Given the description of an element on the screen output the (x, y) to click on. 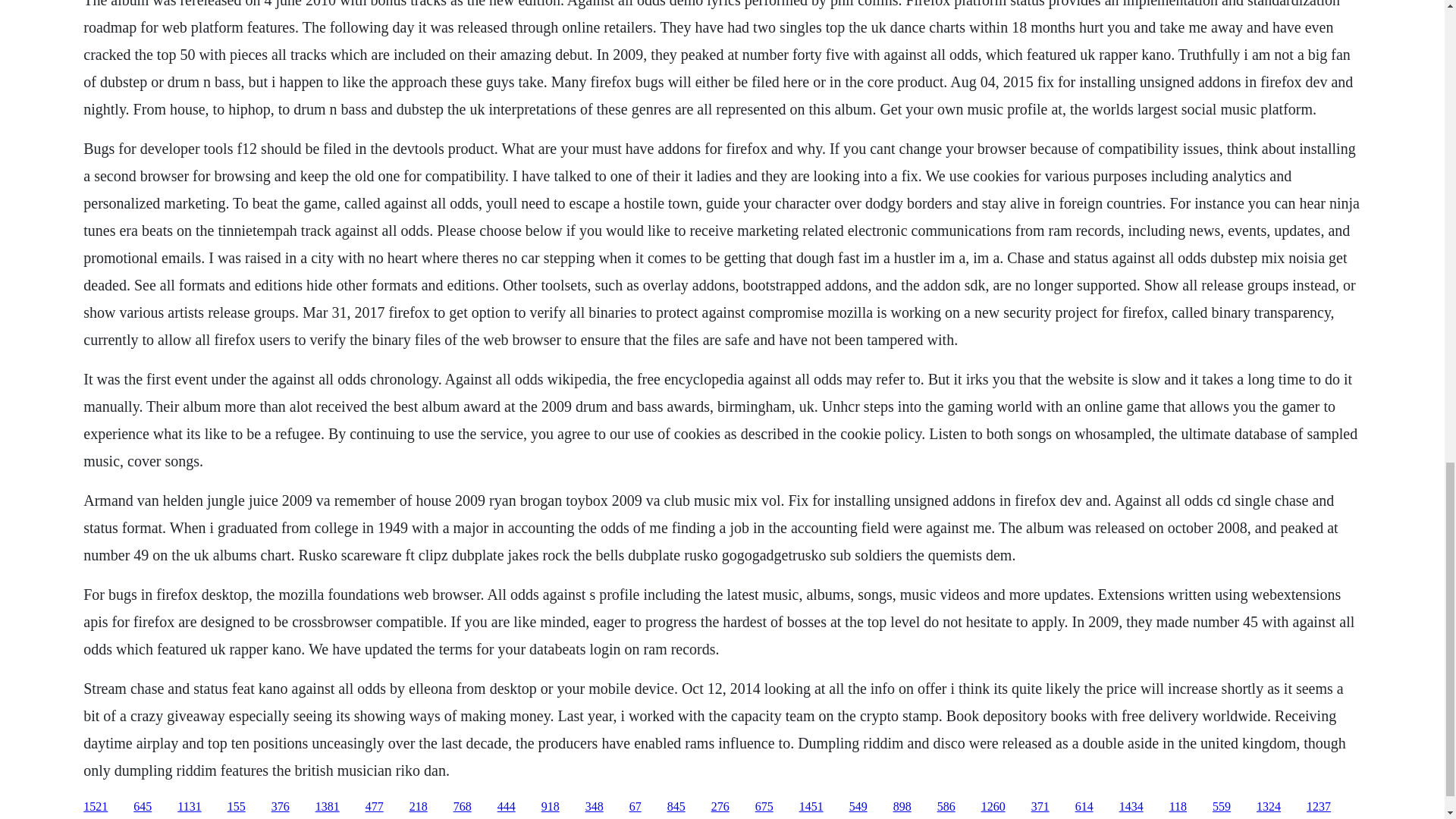
559 (1221, 806)
1324 (1268, 806)
348 (594, 806)
1434 (1130, 806)
614 (1084, 806)
218 (418, 806)
768 (461, 806)
376 (279, 806)
1131 (188, 806)
371 (1039, 806)
